Given the description of an element on the screen output the (x, y) to click on. 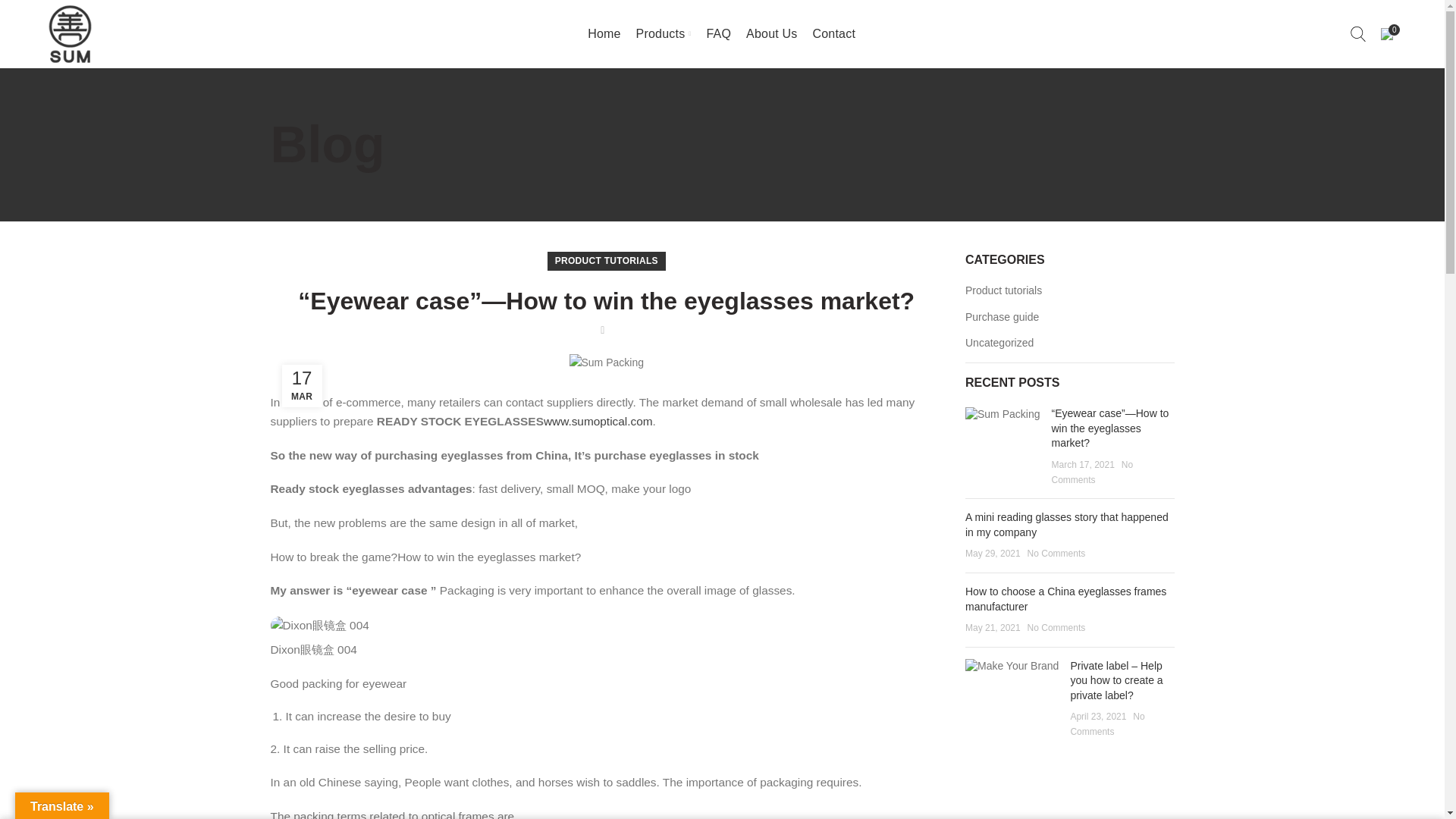
Products (663, 33)
No Comments (1056, 552)
Make Your Brand (1011, 666)
Contact (834, 33)
0 (1386, 33)
How to choose a China eyeglasses frames manufacturer (1065, 598)
Product tutorials (1004, 290)
FAQ (718, 33)
Search (1357, 33)
